Given the description of an element on the screen output the (x, y) to click on. 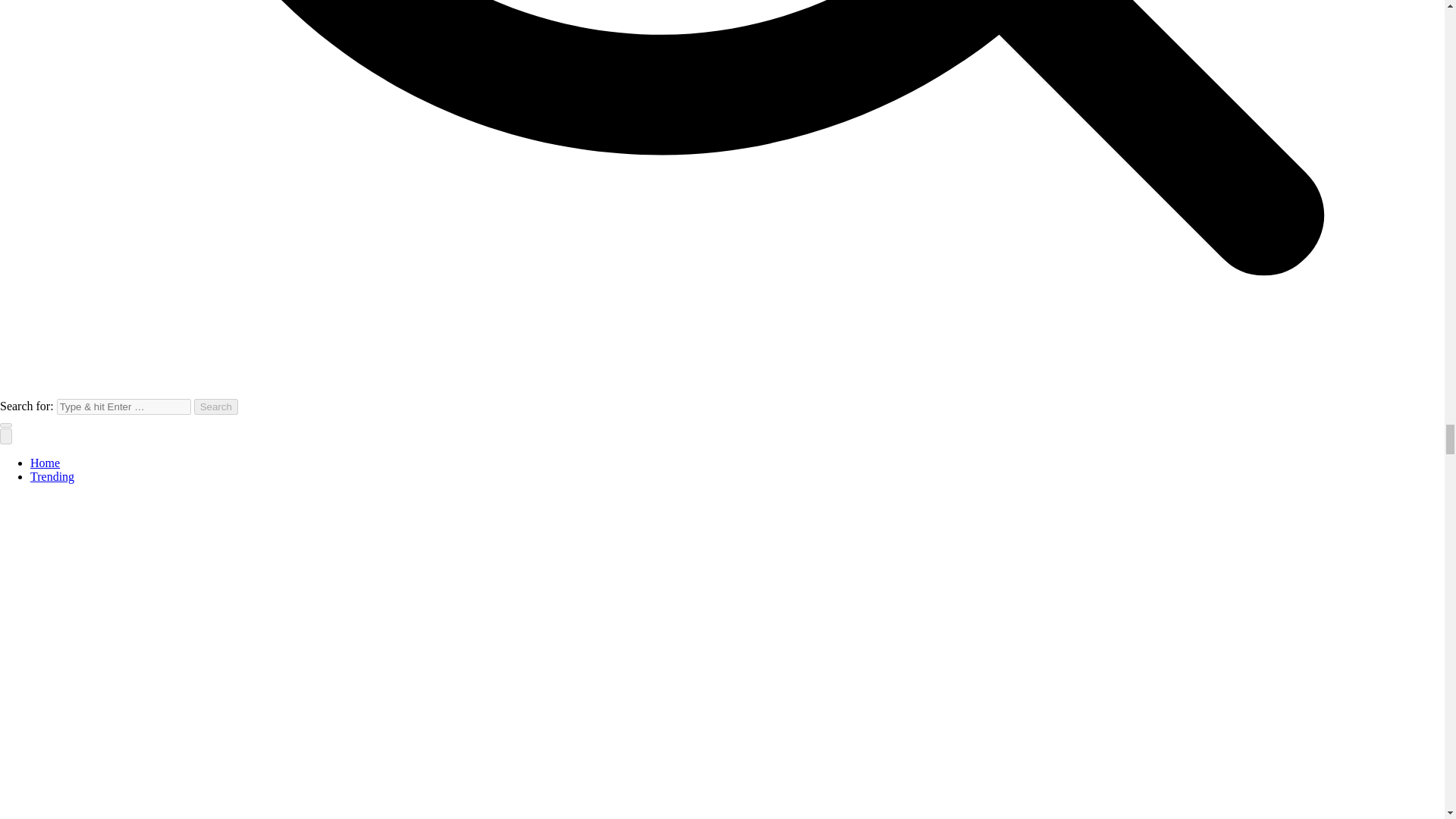
Search (215, 406)
Home (44, 462)
Search (215, 406)
Trending (52, 476)
Search (215, 406)
Search for: (123, 406)
